Given the description of an element on the screen output the (x, y) to click on. 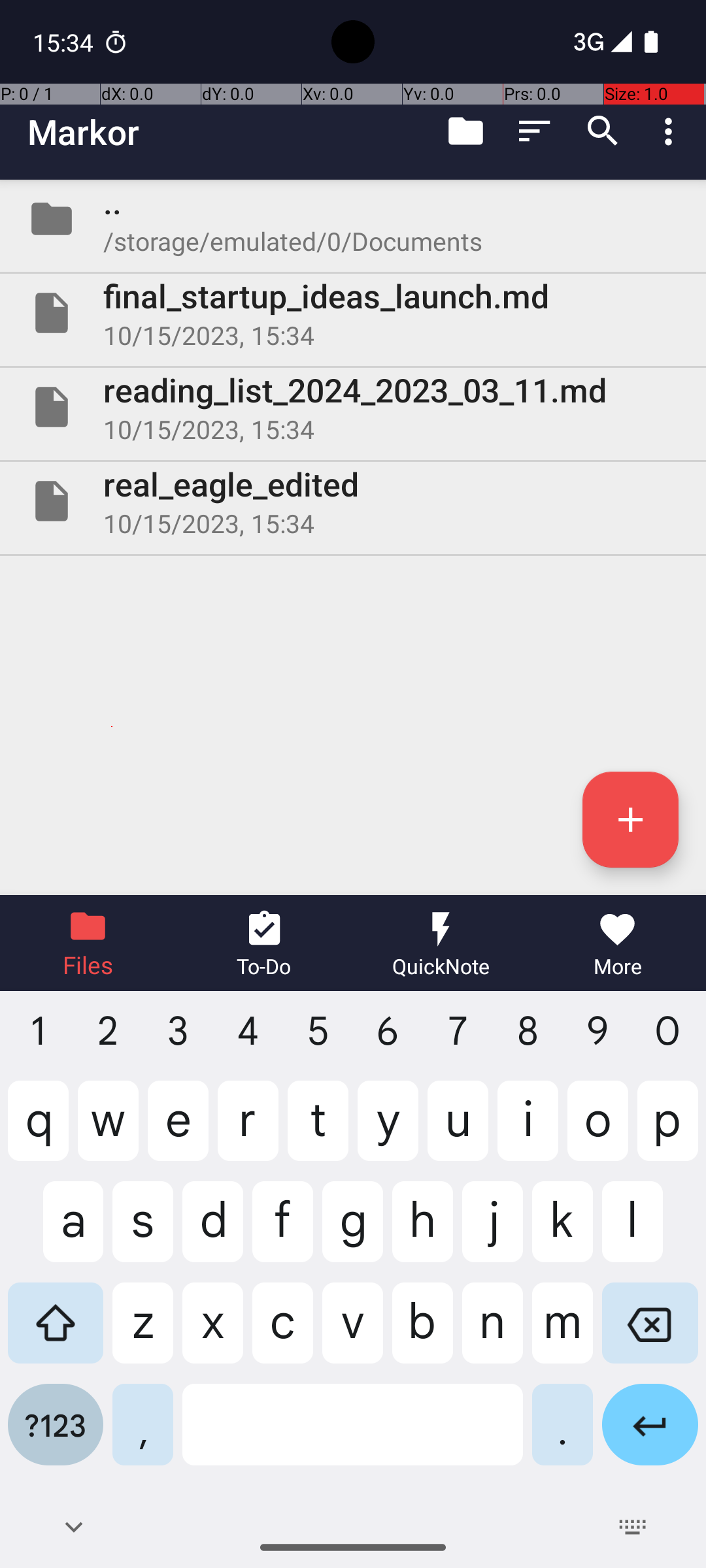
File final_startup_ideas_launch.md  Element type: android.widget.LinearLayout (353, 312)
File reading_list_2024_2023_03_11.md  Element type: android.widget.LinearLayout (353, 406)
File real_eagle_edited  Element type: android.widget.LinearLayout (353, 500)
